Given the description of an element on the screen output the (x, y) to click on. 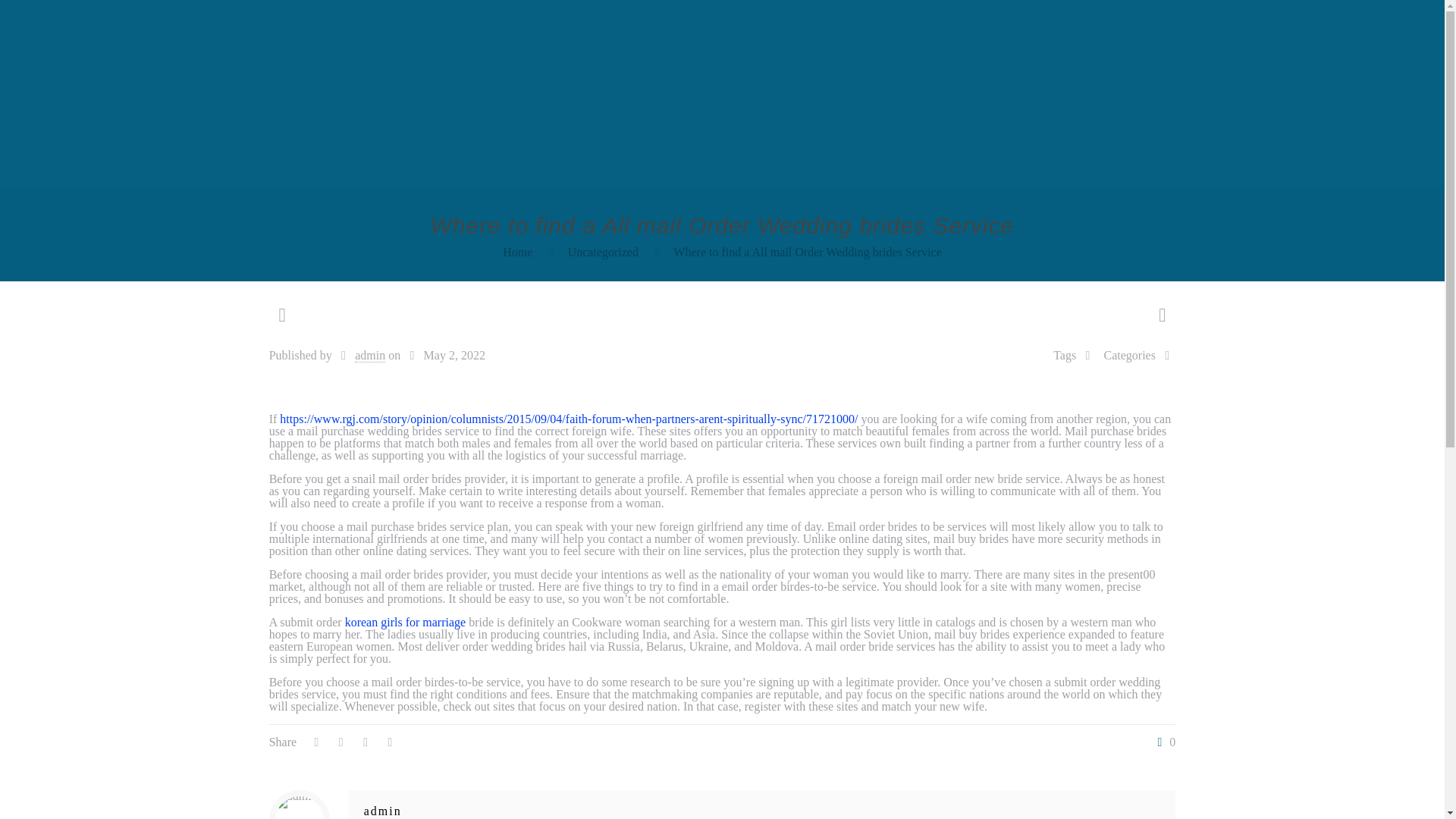
admin (370, 355)
Uncategorized (603, 251)
Where to find a All mail Order Wedding brides Service (806, 251)
admin (382, 810)
korean girls for marriage (405, 621)
0 (1162, 742)
Home (517, 251)
